Given the description of an element on the screen output the (x, y) to click on. 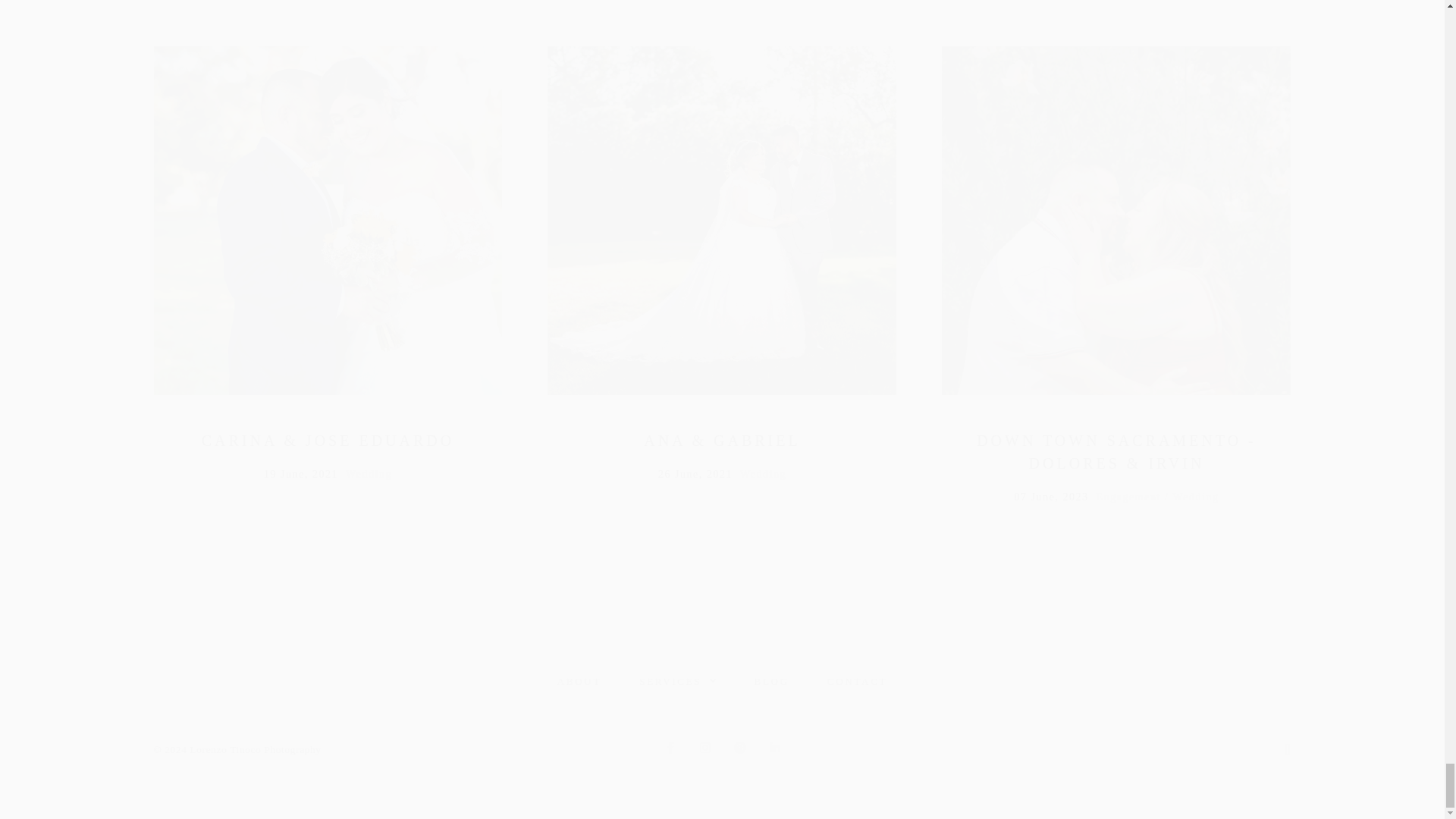
SERVICES (677, 681)
ABOUT (579, 681)
Wedding (762, 477)
Wedding (1196, 500)
Wedding (368, 477)
